Given the description of an element on the screen output the (x, y) to click on. 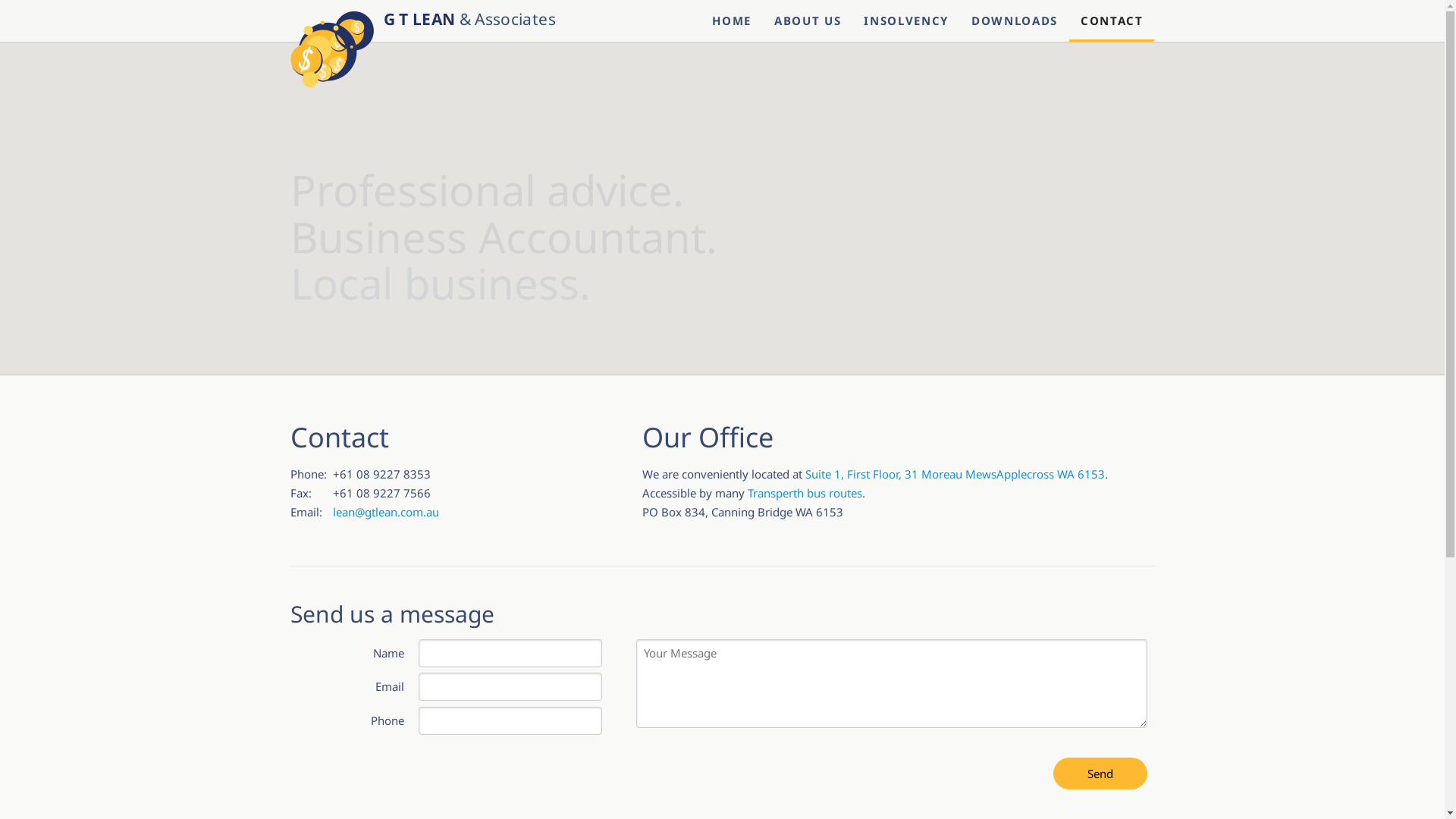
G T LEAN & Associates Element type: text (422, 20)
ABOUT US Element type: text (807, 20)
Send Element type: text (1099, 773)
lean@gtlean.com.au Element type: text (385, 511)
Transperth bus routes Element type: text (804, 492)
HOME Element type: text (731, 20)
DOWNLOADS Element type: text (1014, 20)
INSOLVENCY Element type: text (906, 20)
Suite 1, First Floor, 31 Moreau MewsApplecross WA 6153 Element type: text (954, 473)
CONTACT Element type: text (1111, 20)
